Given the description of an element on the screen output the (x, y) to click on. 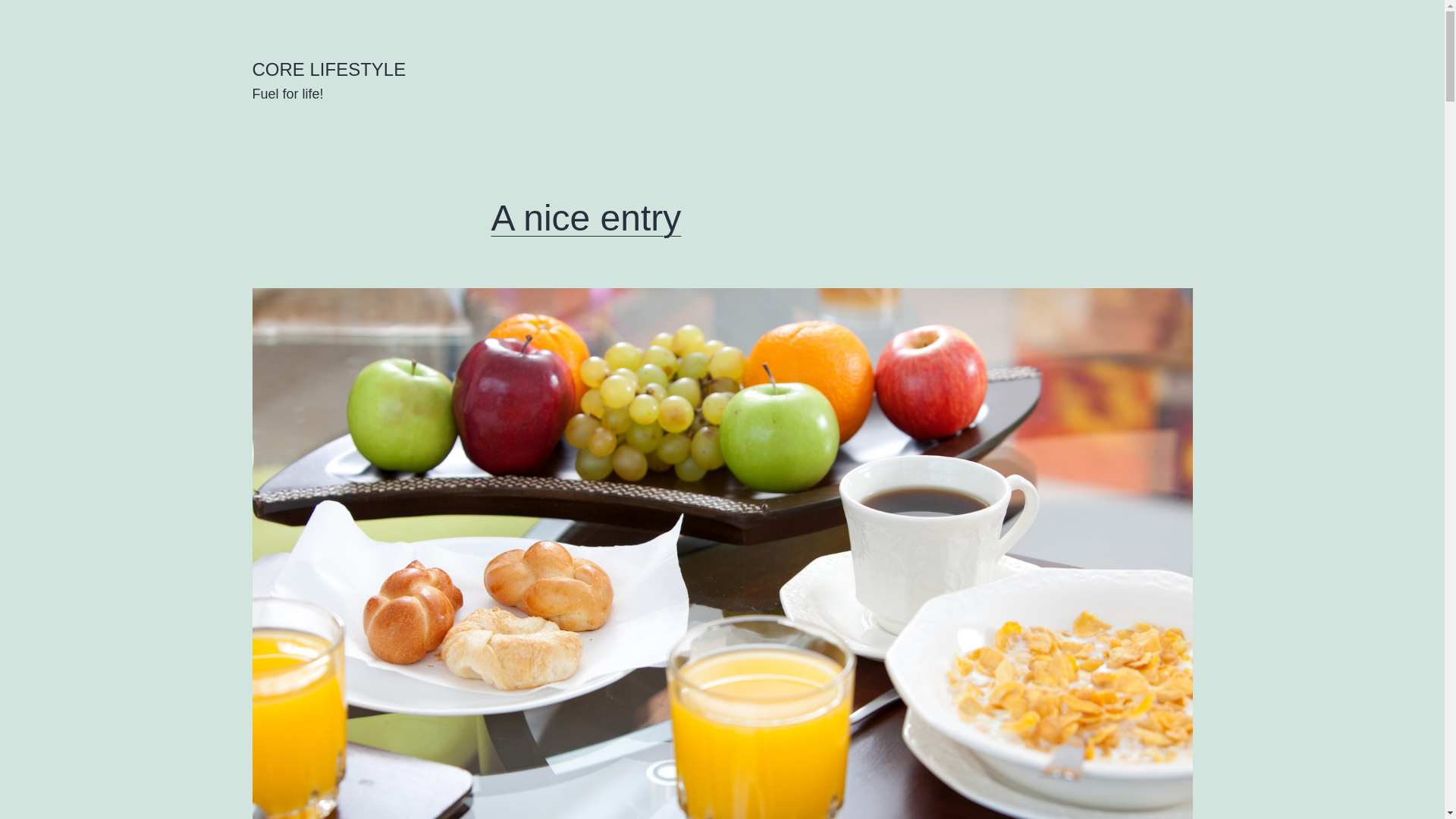
A nice entry Element type: text (586, 217)
